Given the description of an element on the screen output the (x, y) to click on. 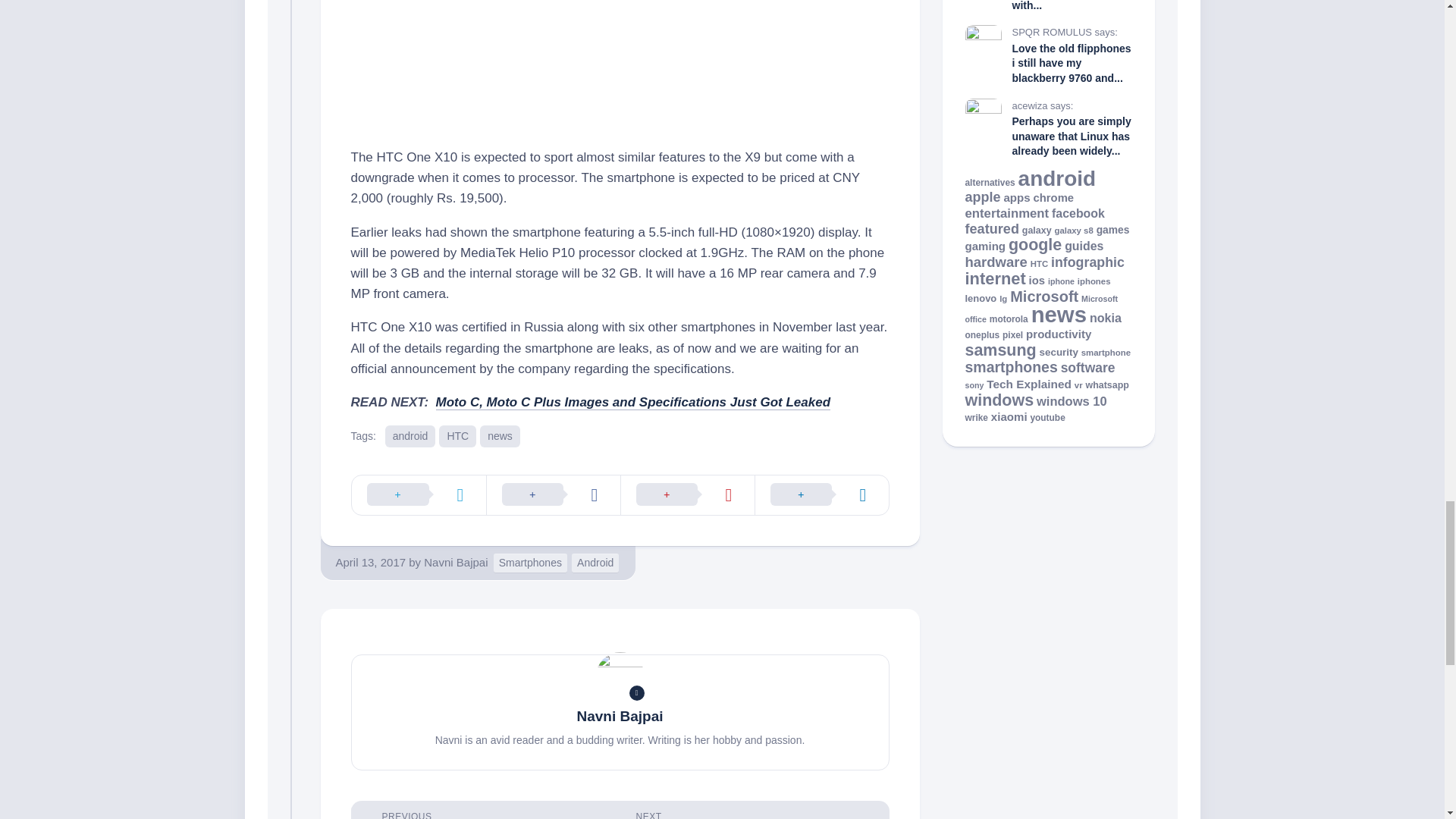
Posts by Navni Bajpai (455, 562)
Share on X (419, 495)
Share on Pinterest (687, 495)
android (410, 436)
Share on LinkedIn (821, 495)
Share on Facebook (552, 495)
